Given the description of an element on the screen output the (x, y) to click on. 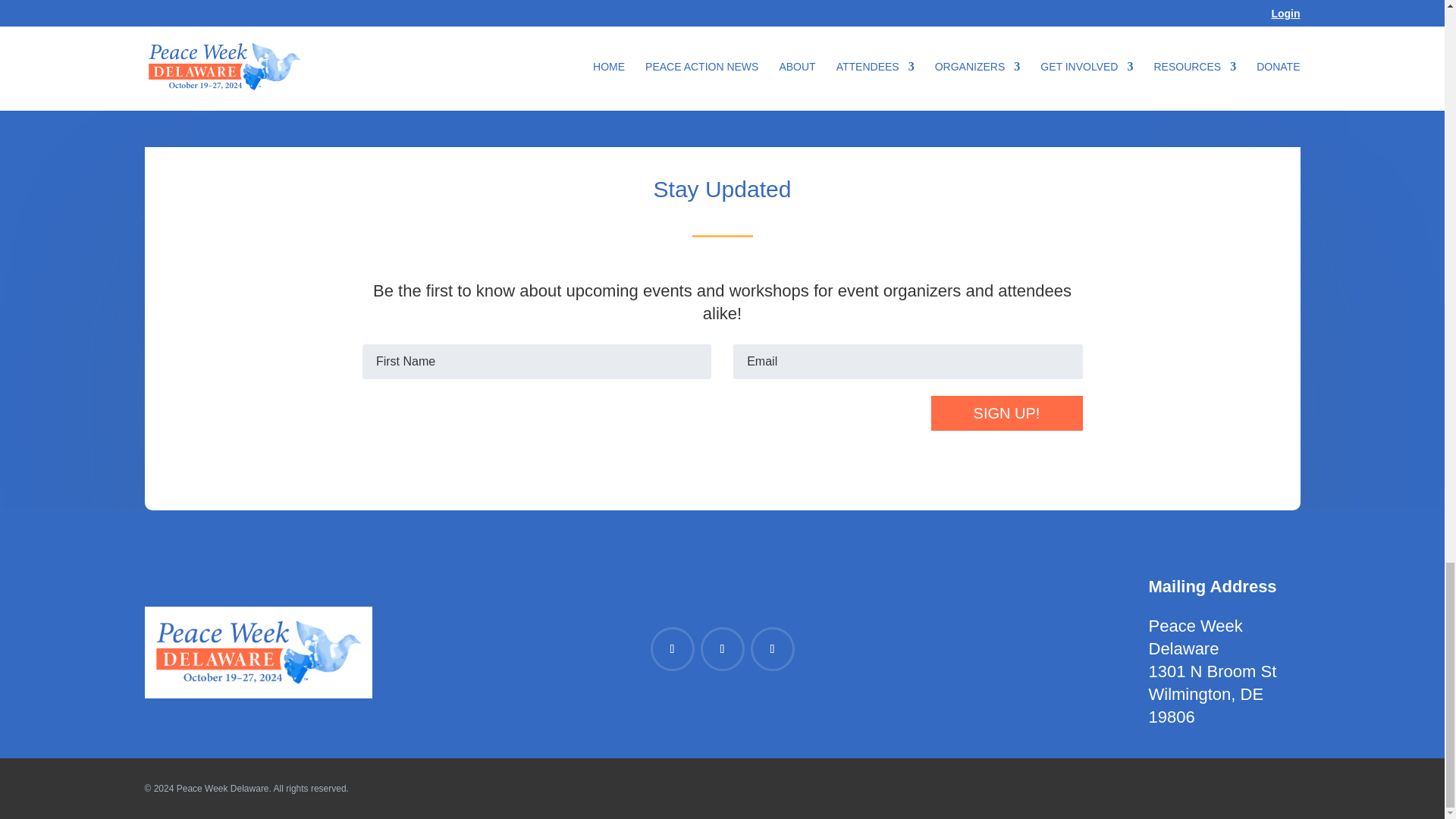
Follow on X (772, 648)
Peace Week Delaware 2021 Logo (258, 652)
Follow on Instagram (722, 648)
Follow on Facebook (672, 648)
